Given the description of an element on the screen output the (x, y) to click on. 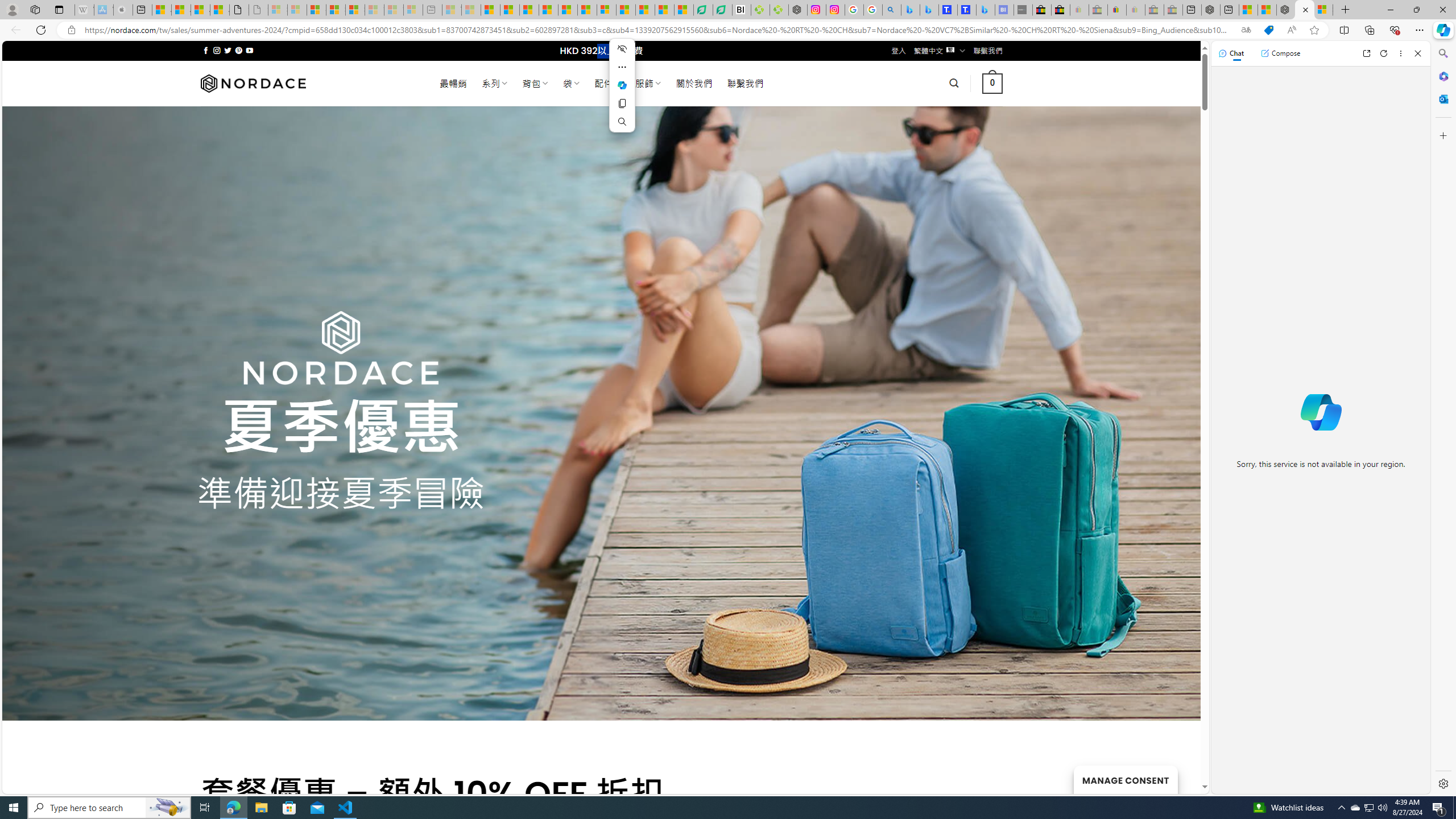
Sign in to your Microsoft account (1323, 9)
Copy (622, 103)
Payments Terms of Use | eBay.com - Sleeping (1135, 9)
Press Room - eBay Inc. - Sleeping (1154, 9)
Follow on Facebook (205, 50)
